Given the description of an element on the screen output the (x, y) to click on. 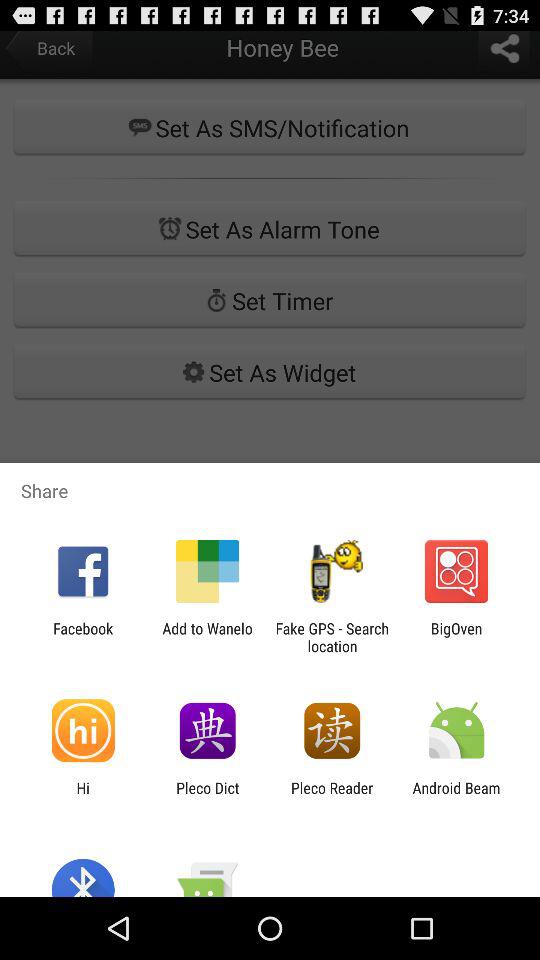
flip to facebook (83, 637)
